Given the description of an element on the screen output the (x, y) to click on. 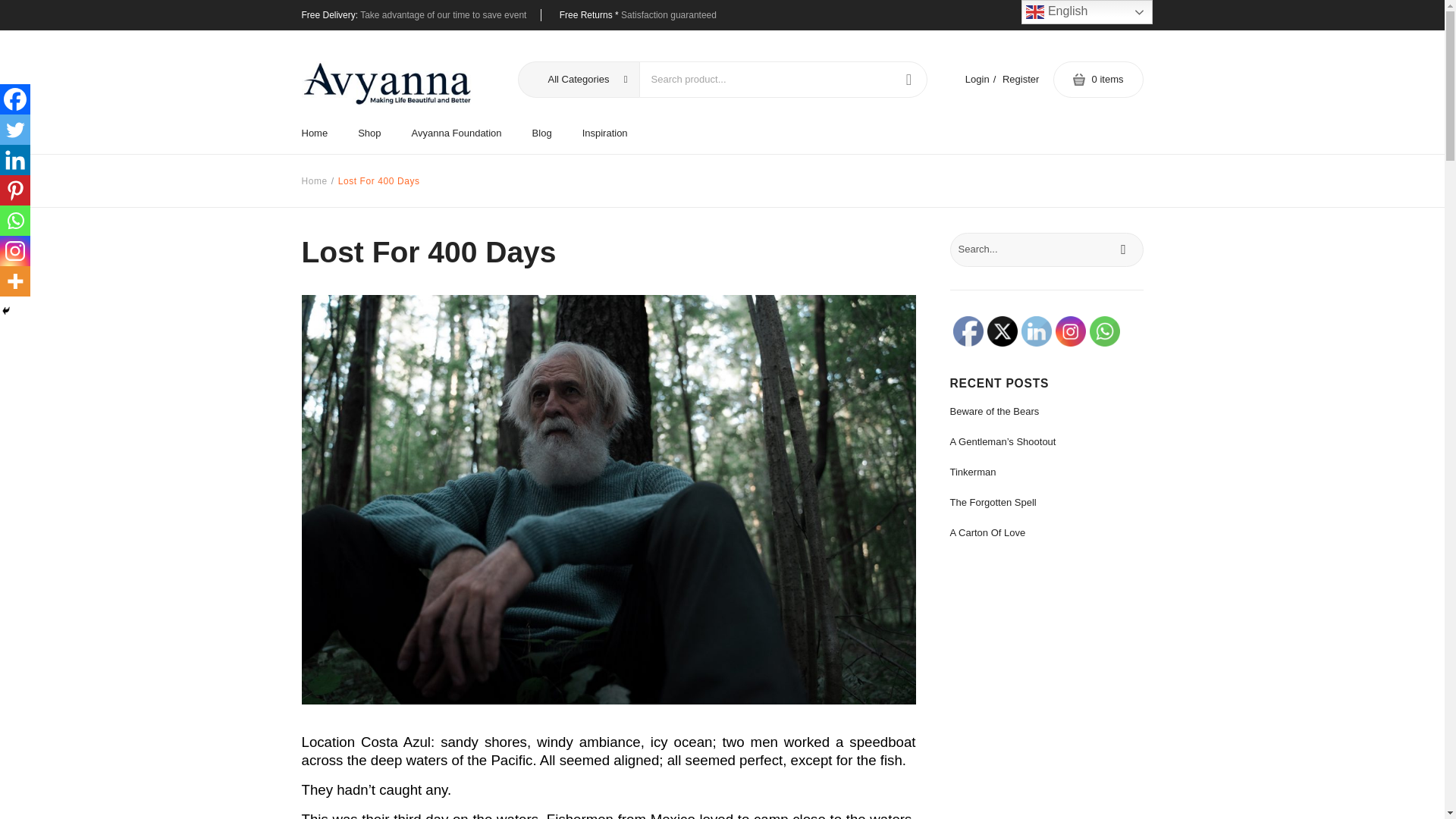
Home (322, 133)
Avyanna (387, 82)
0 items (1098, 79)
Login (977, 79)
Search product... (764, 79)
Search... (1046, 248)
Shop (369, 133)
English (1087, 12)
Register (1021, 79)
